Given the description of an element on the screen output the (x, y) to click on. 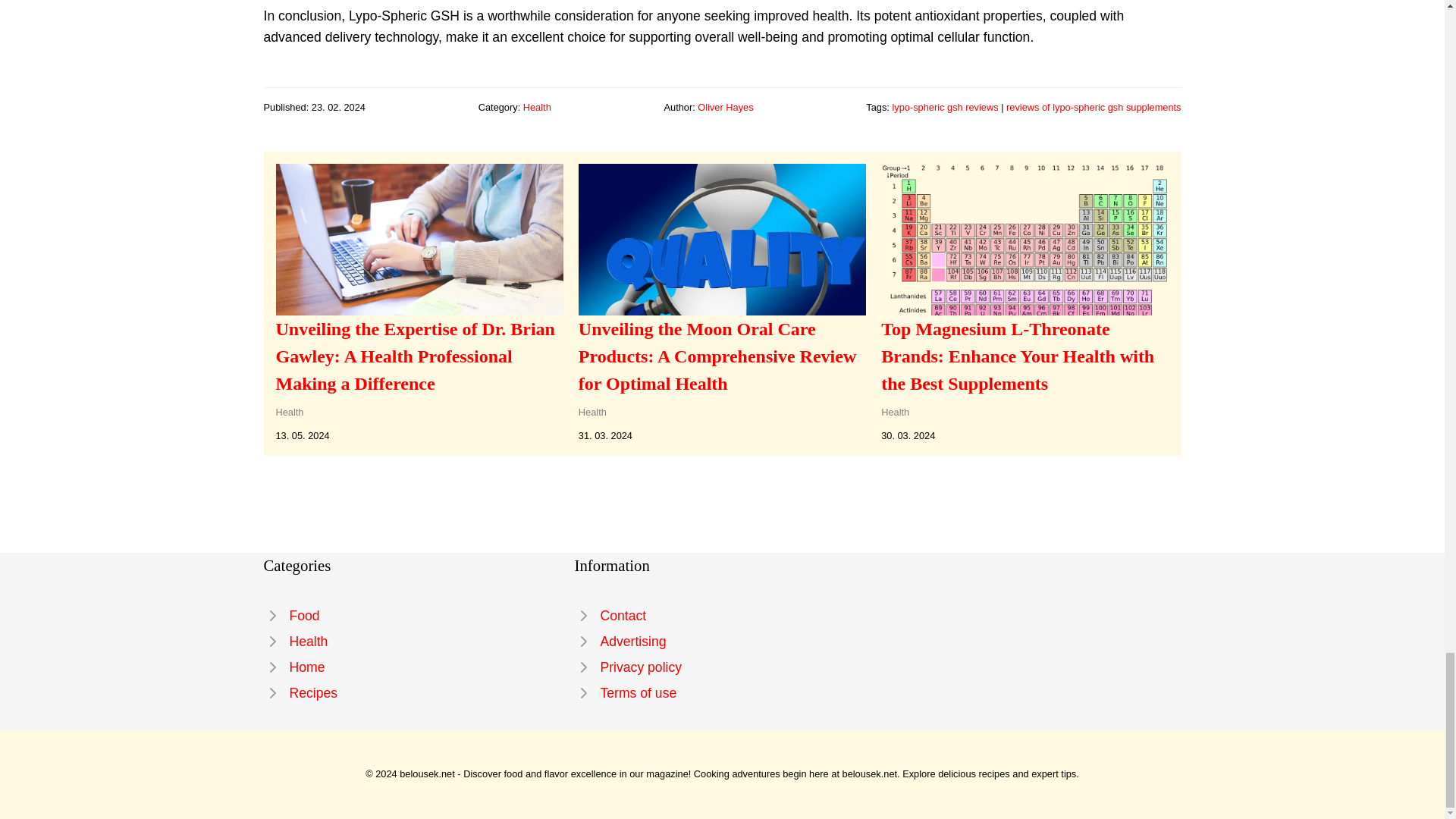
Recipes (411, 692)
Contact (722, 615)
Food (411, 615)
Health (411, 641)
Oliver Hayes (724, 107)
Health (290, 411)
lypo-spheric gsh reviews (944, 107)
Health (894, 411)
